Given the description of an element on the screen output the (x, y) to click on. 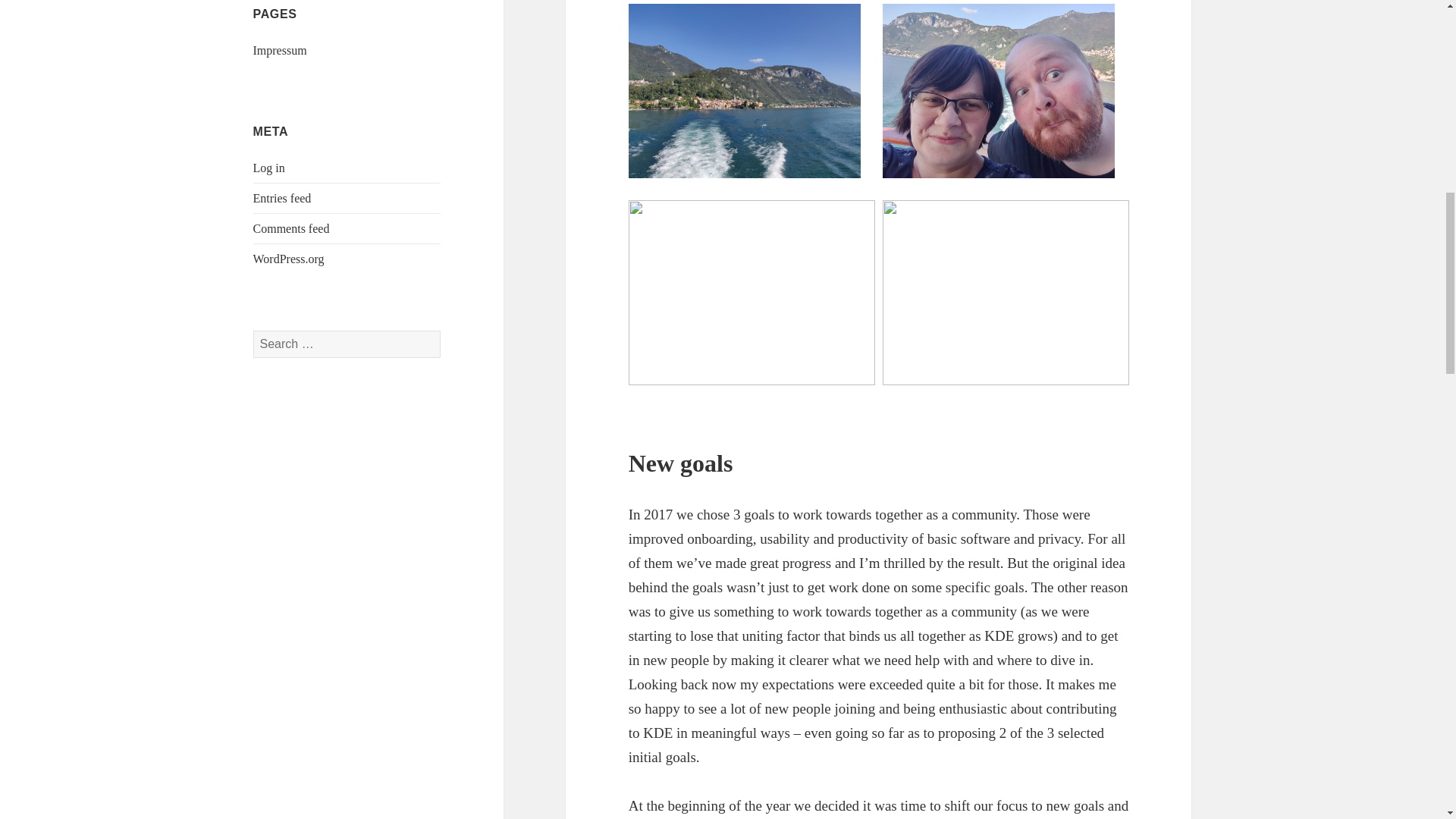
Entries feed (282, 197)
Comments feed (291, 228)
Impressum (280, 50)
Log in (269, 167)
WordPress.org (288, 258)
